Given the description of an element on the screen output the (x, y) to click on. 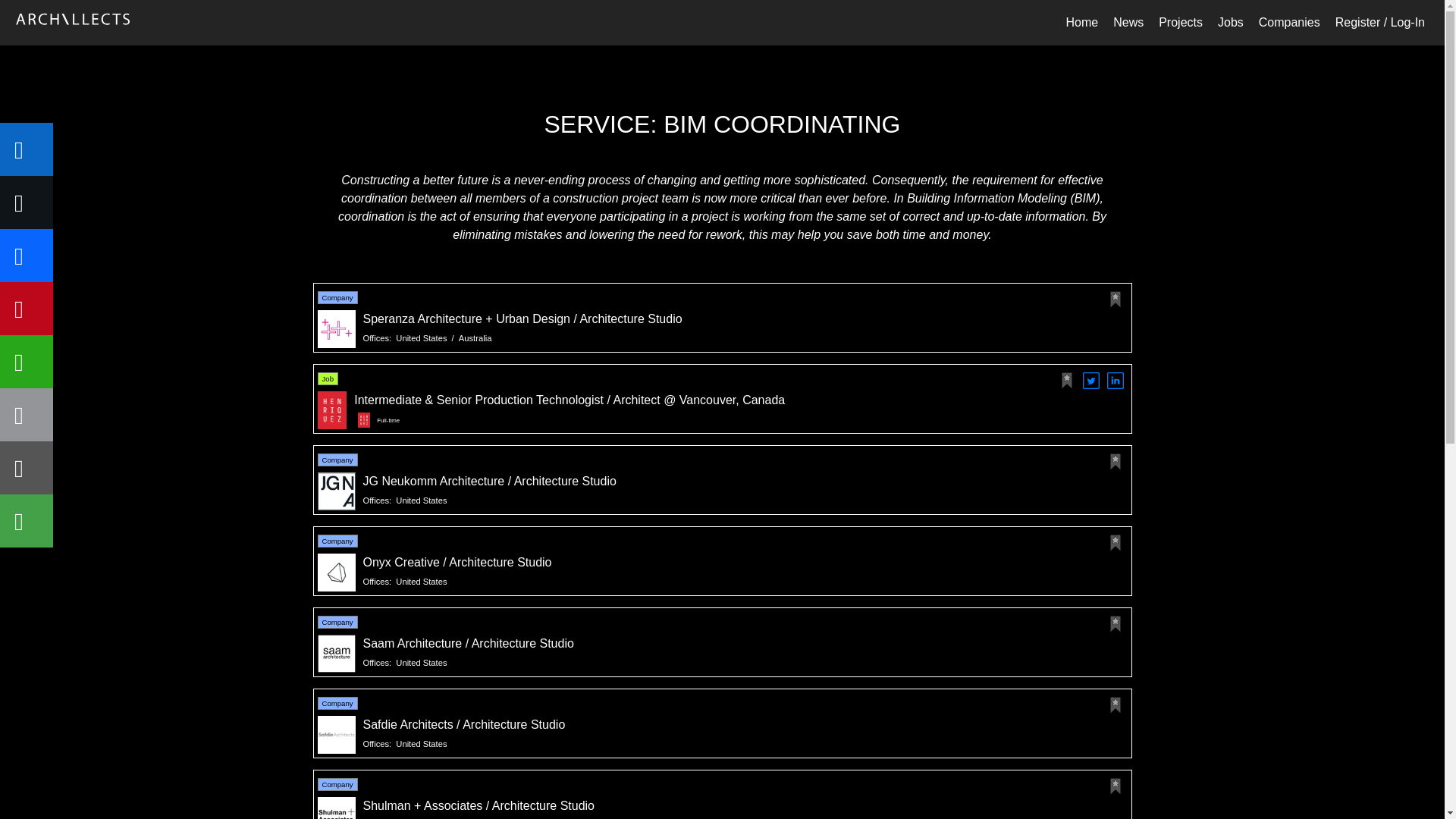
Projects (1180, 22)
Companies (1288, 22)
Projects (1180, 22)
Jobs (1229, 22)
News (1128, 22)
LinkedIn (26, 149)
News (1128, 22)
Pinterest (26, 307)
WhatsApp (26, 361)
More Options (26, 520)
Home (1081, 22)
Copy Link (26, 467)
Email This (26, 414)
Jobs (1229, 22)
Companies (1288, 22)
